Given the description of an element on the screen output the (x, y) to click on. 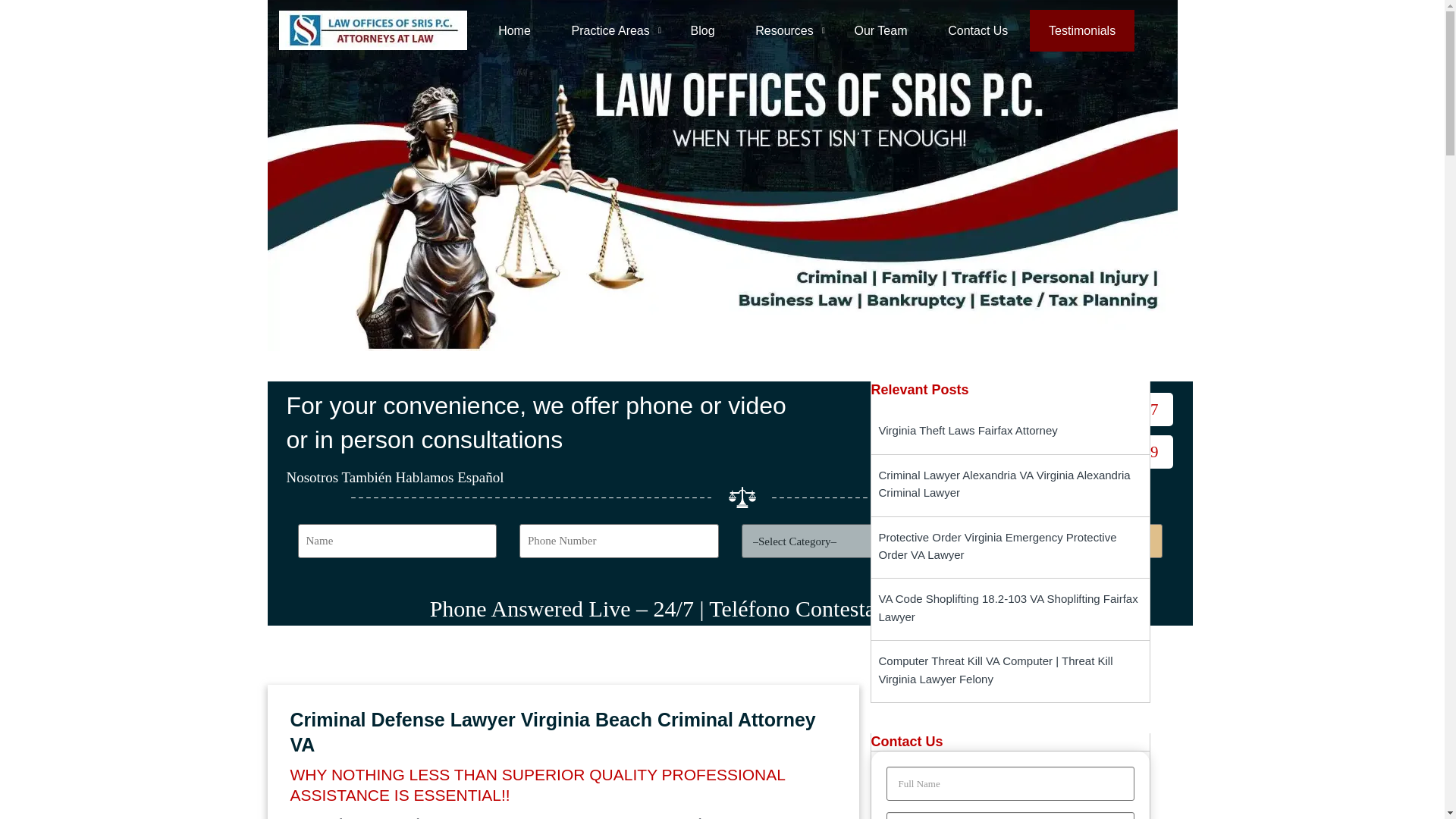
1 800 5190549 (1091, 451)
Contact Us (977, 29)
Resources (783, 29)
Home (523, 29)
Testimonials (1081, 29)
Find a lawyer (1061, 540)
Our Team (880, 29)
Find a lawyer (1061, 540)
888-437-7747 (1093, 409)
Practice Areas (610, 29)
Blog (702, 29)
